Given the description of an element on the screen output the (x, y) to click on. 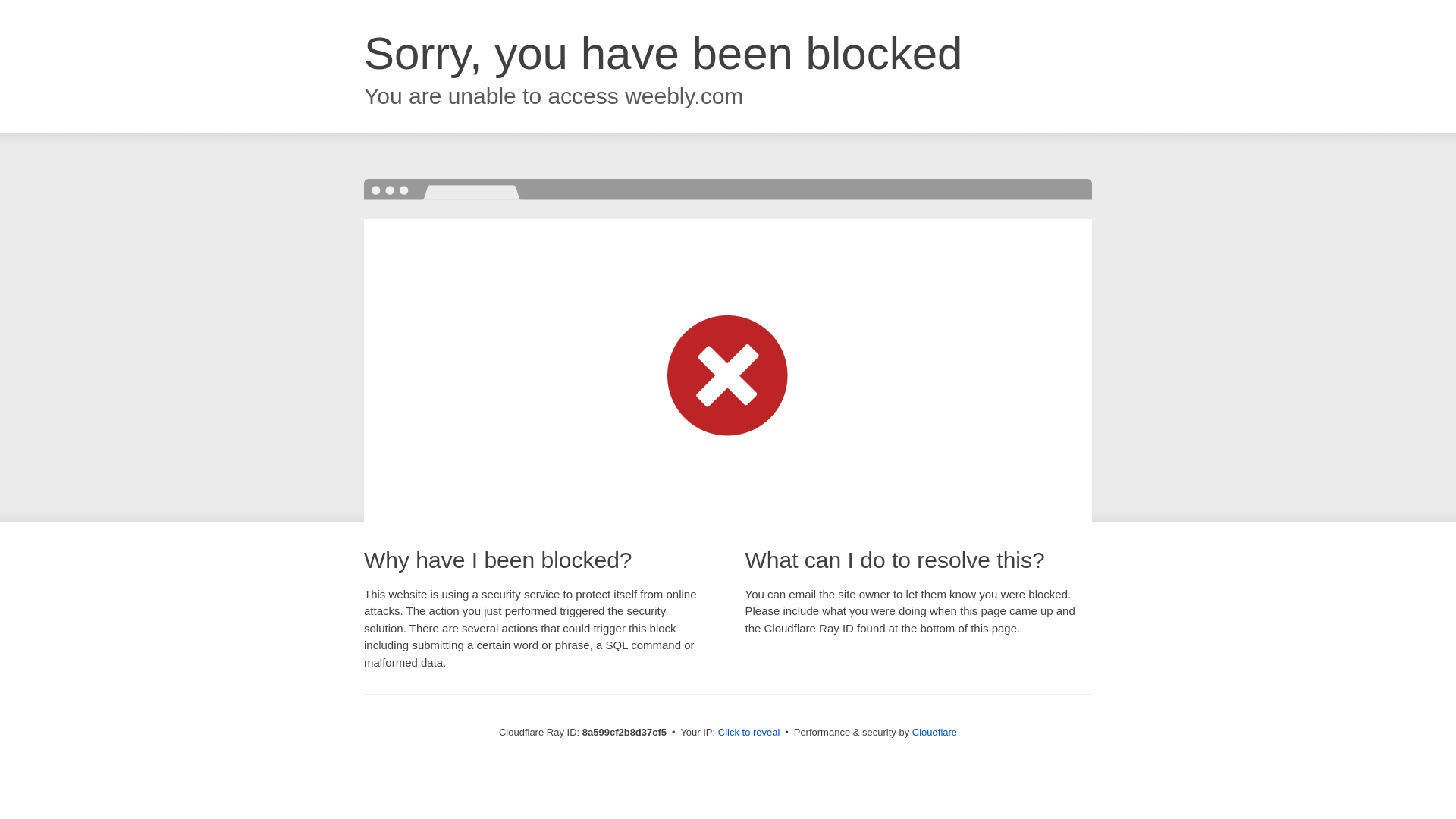
Cloudflare (934, 731)
Click to reveal (748, 732)
